Given the description of an element on the screen output the (x, y) to click on. 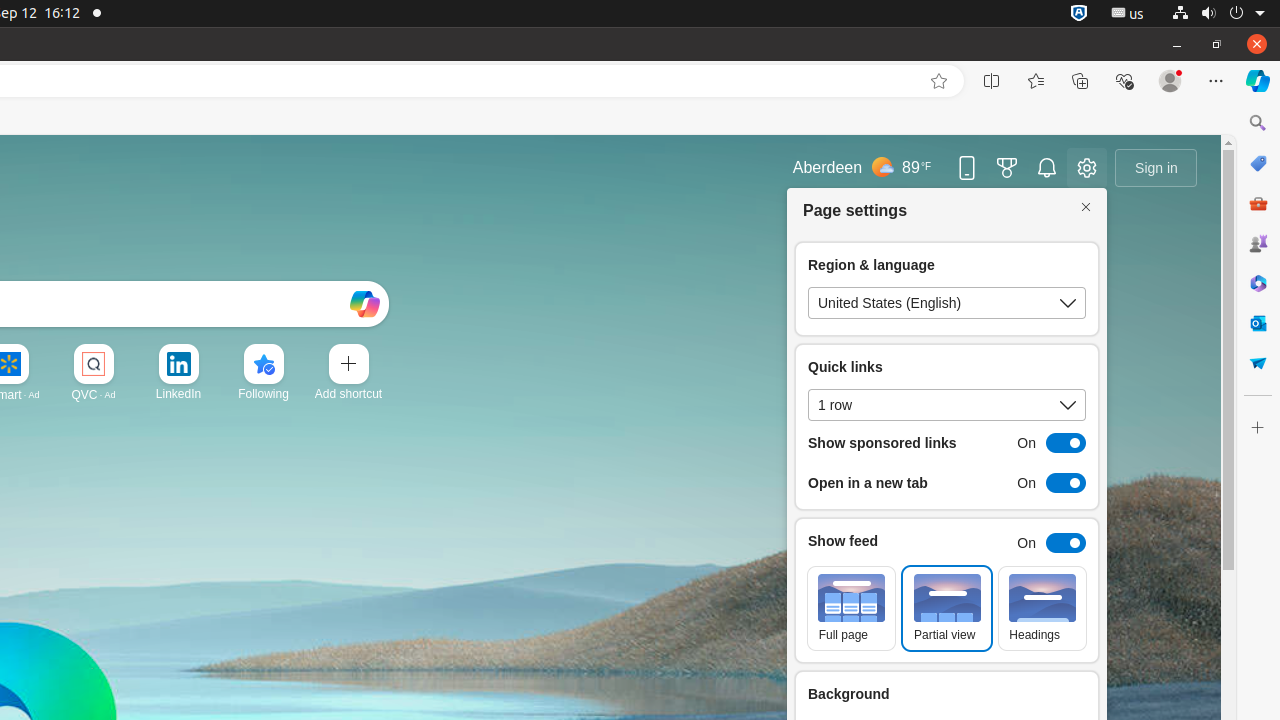
Outlook Element type: push-button (1258, 323)
Drop Element type: push-button (1258, 363)
Microsoft Shopping Element type: push-button (1258, 163)
Profile 1 Profile, Please sign in Element type: push-button (1170, 81)
Aberdeen: Heat Severe, Mostly sunny, 89 °F Element type: link (861, 168)
